Given the description of an element on the screen output the (x, y) to click on. 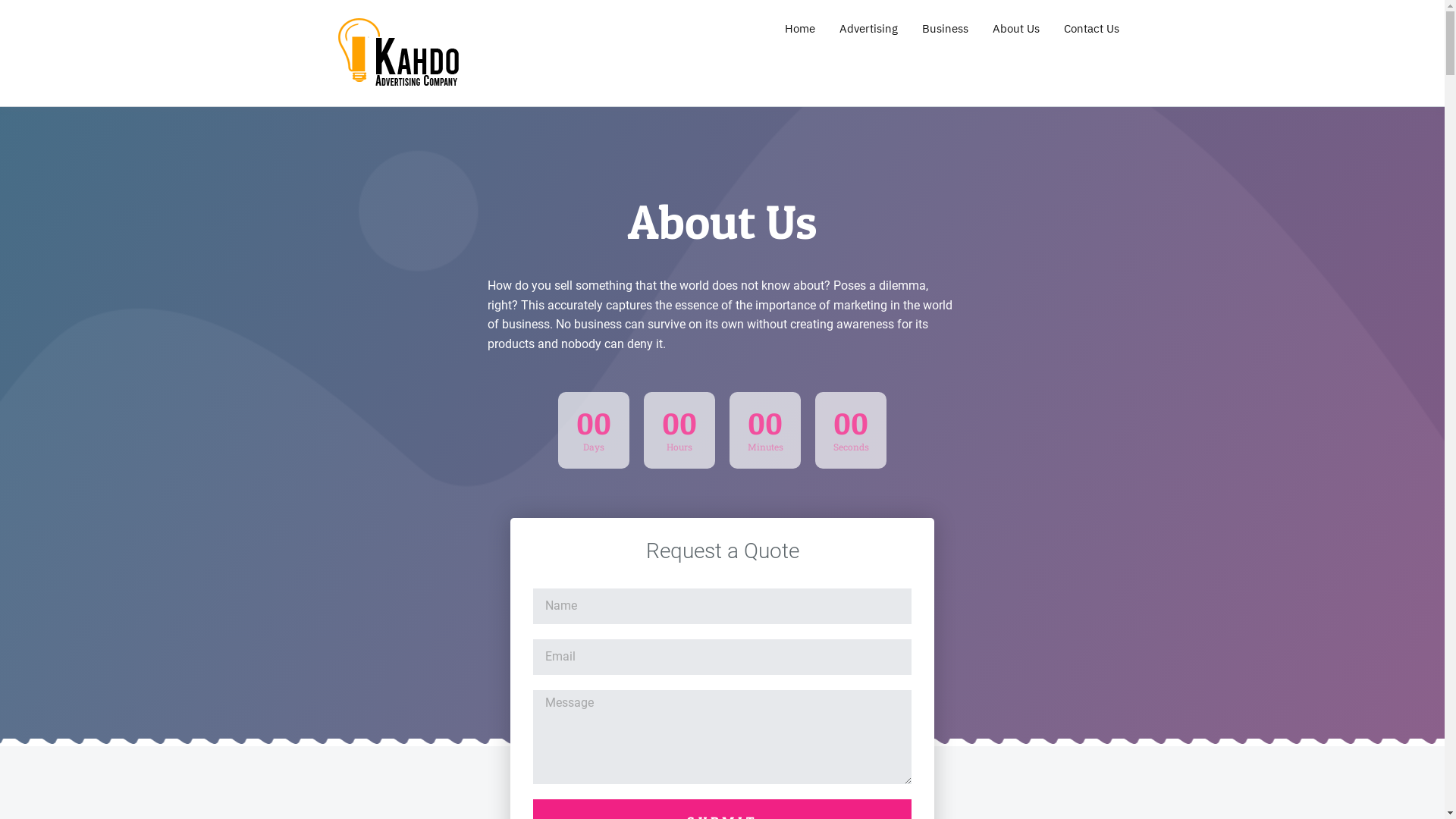
Home Element type: text (798, 28)
Kahdo Element type: text (325, 111)
Business Element type: text (945, 28)
Skip to content Element type: text (3, 3)
Contact Us Element type: text (1090, 28)
Advertising Element type: text (867, 28)
About Us Element type: text (1015, 28)
